Given the description of an element on the screen output the (x, y) to click on. 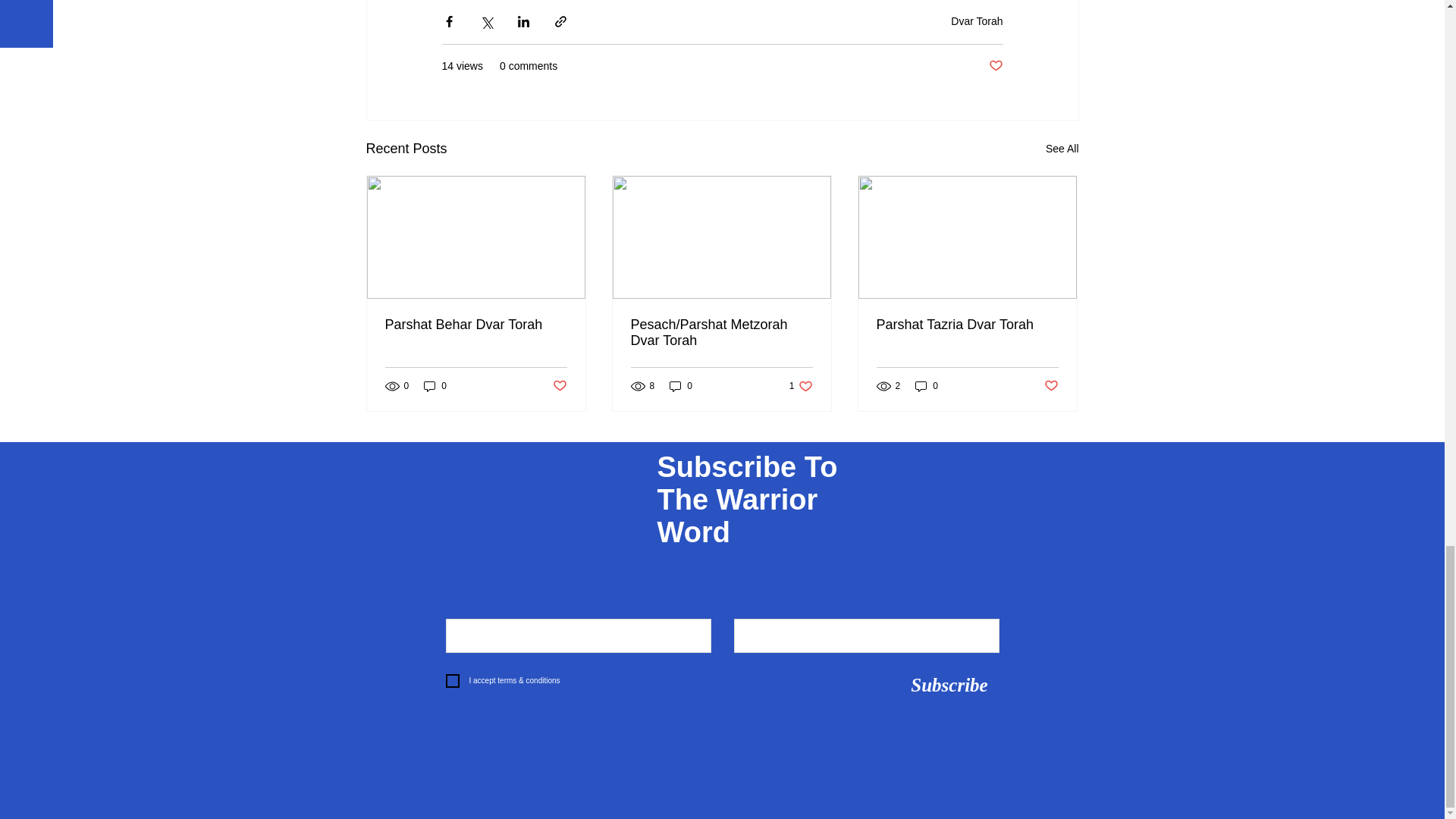
See All (1061, 148)
0 (435, 386)
Dvar Torah (976, 21)
Post not marked as liked (995, 66)
0 (681, 386)
Post not marked as liked (558, 385)
Parshat Behar Dvar Torah (476, 324)
